Given the description of an element on the screen output the (x, y) to click on. 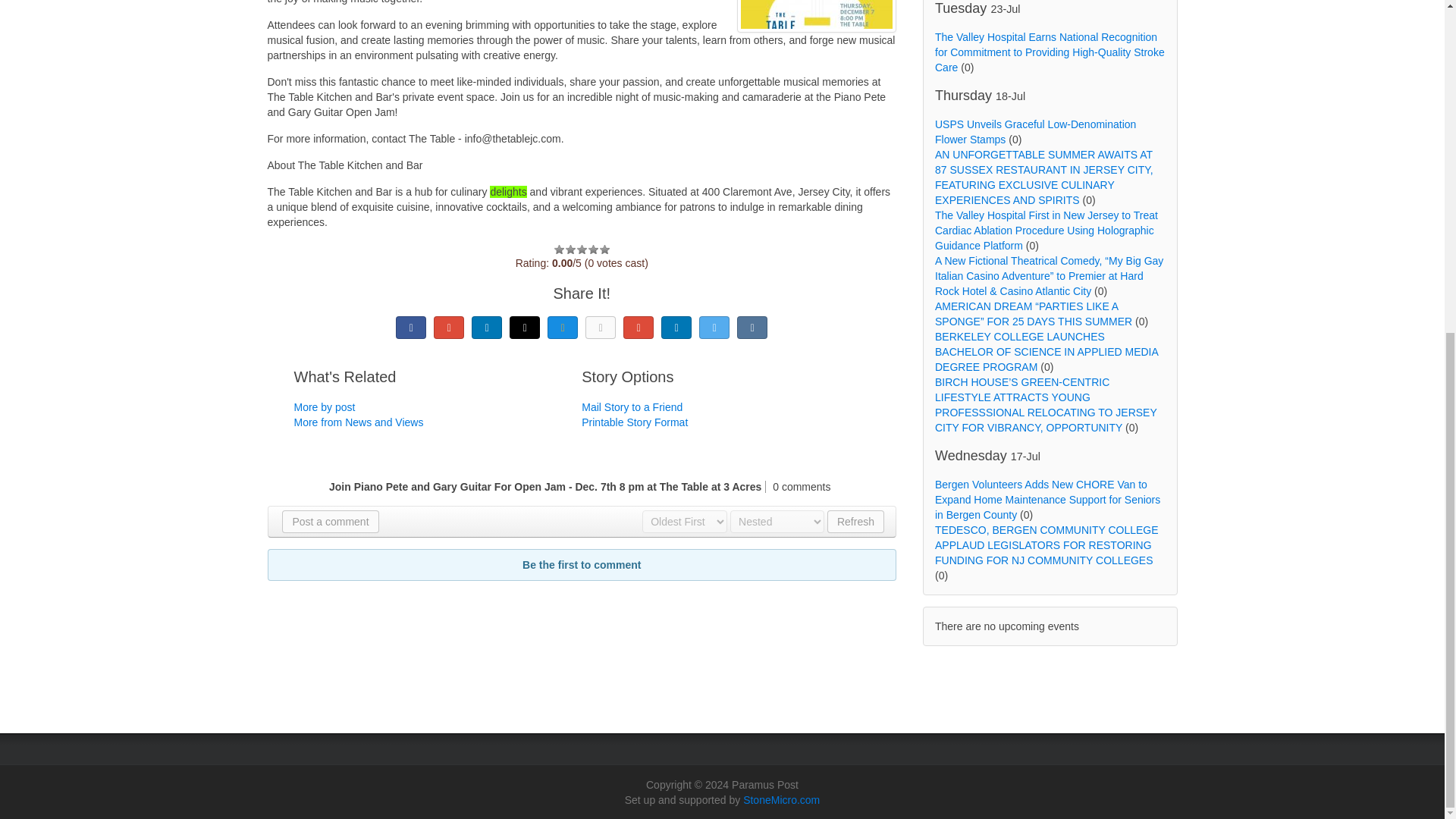
Odnoklassniki (600, 327)
USPS Unveils Graceful Low-Denomination Flower Stamps (1034, 131)
Live Journal (524, 327)
Pinterest (638, 327)
More by post (324, 407)
LinkedIn (486, 327)
reddit (676, 327)
Twitter (713, 327)
Mail.ru (562, 327)
vk (751, 327)
Facebook (411, 327)
